Given the description of an element on the screen output the (x, y) to click on. 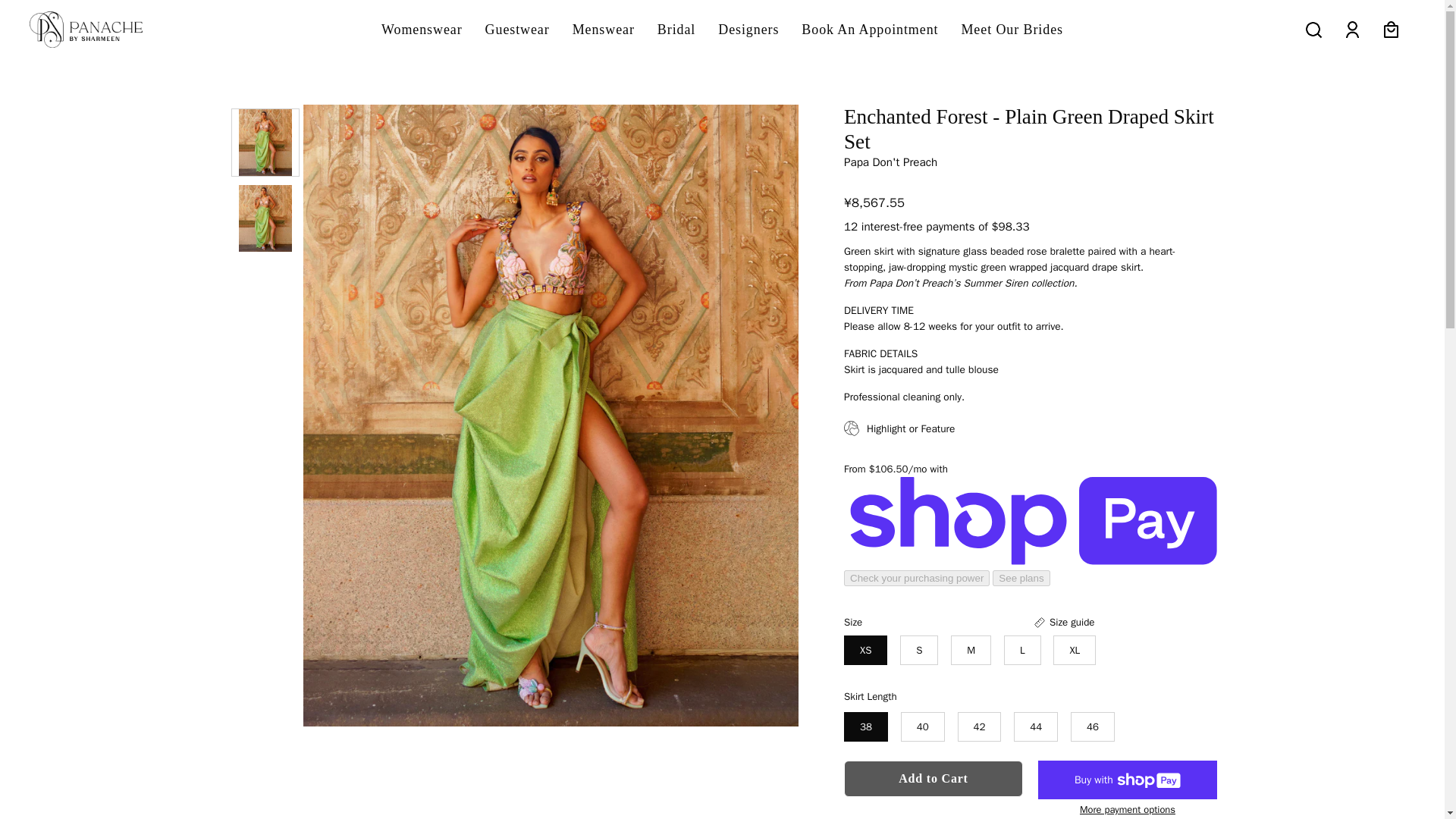
Open search bar (1313, 29)
